Given the description of an element on the screen output the (x, y) to click on. 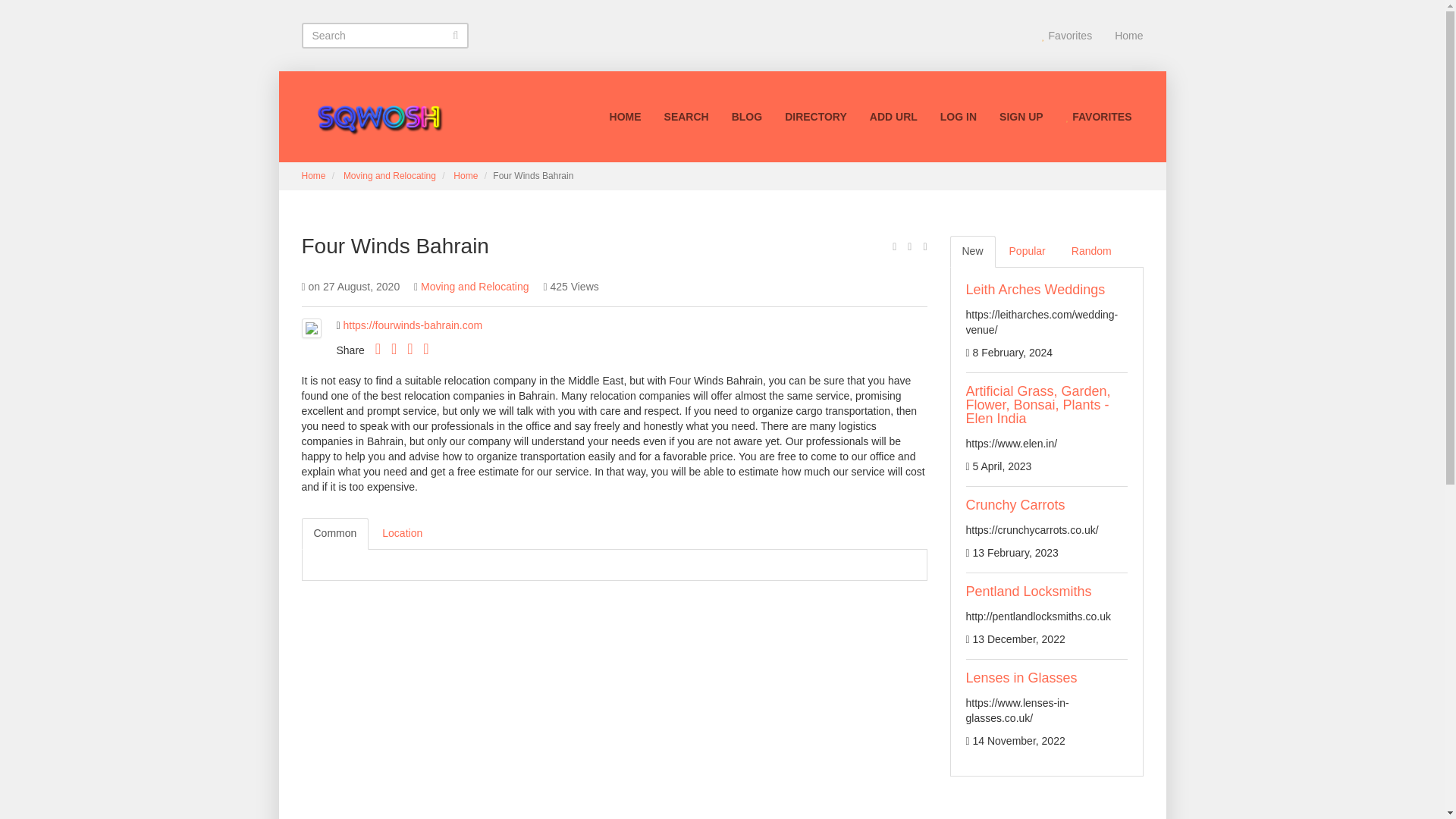
Random (1091, 251)
Favorites (1066, 35)
Home (313, 175)
Home (1128, 35)
Moving and Relocating (389, 175)
Location (401, 533)
SEARCH (686, 116)
Moving and Relocating (474, 286)
New (971, 251)
